Given the description of an element on the screen output the (x, y) to click on. 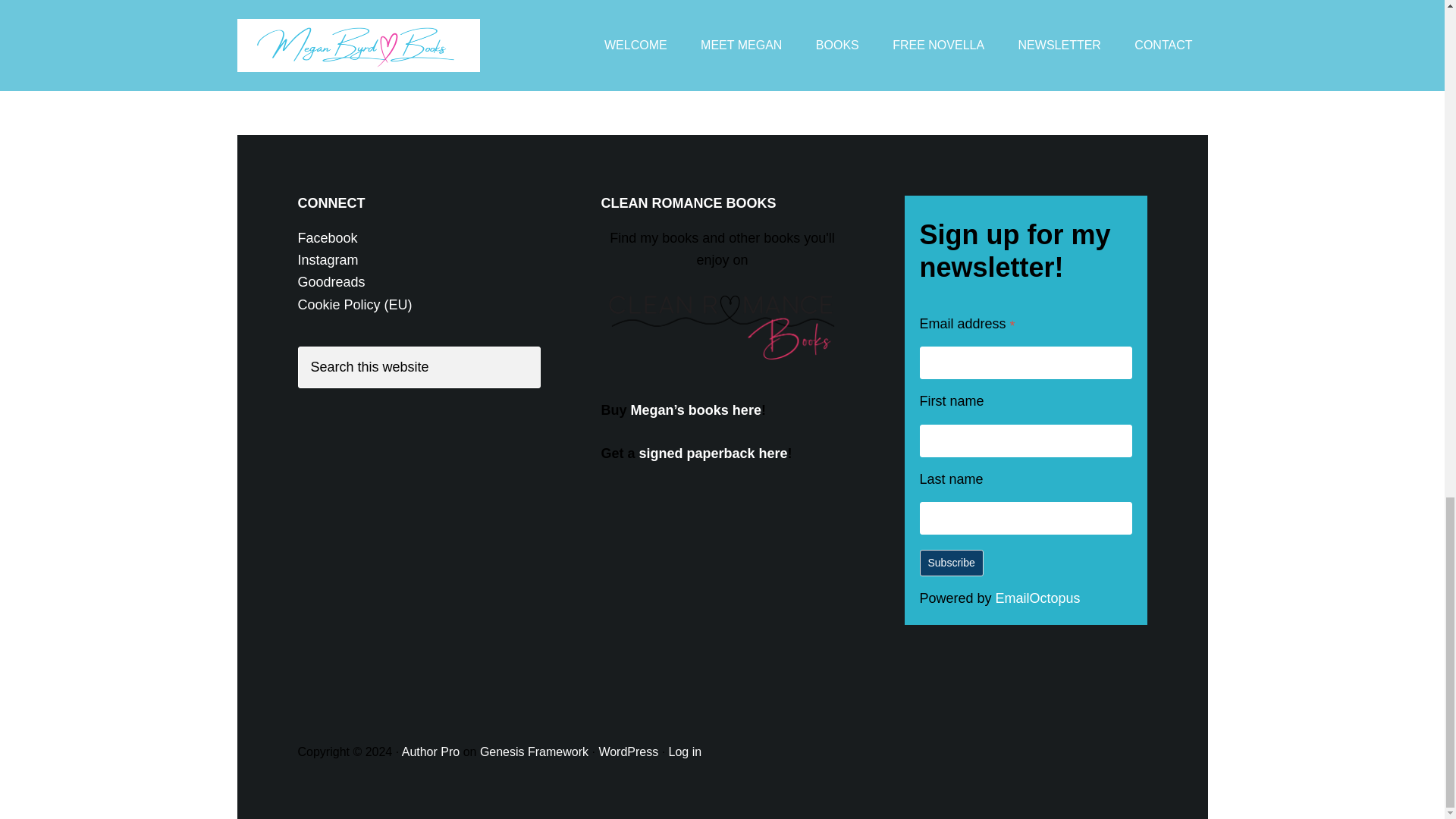
signed paperback here (713, 453)
Log in (684, 751)
Goodreads (331, 281)
Instagram (327, 259)
EmailOctopus (1037, 598)
Genesis Framework (534, 751)
Subscribe (950, 562)
Facebook (326, 237)
